Given the description of an element on the screen output the (x, y) to click on. 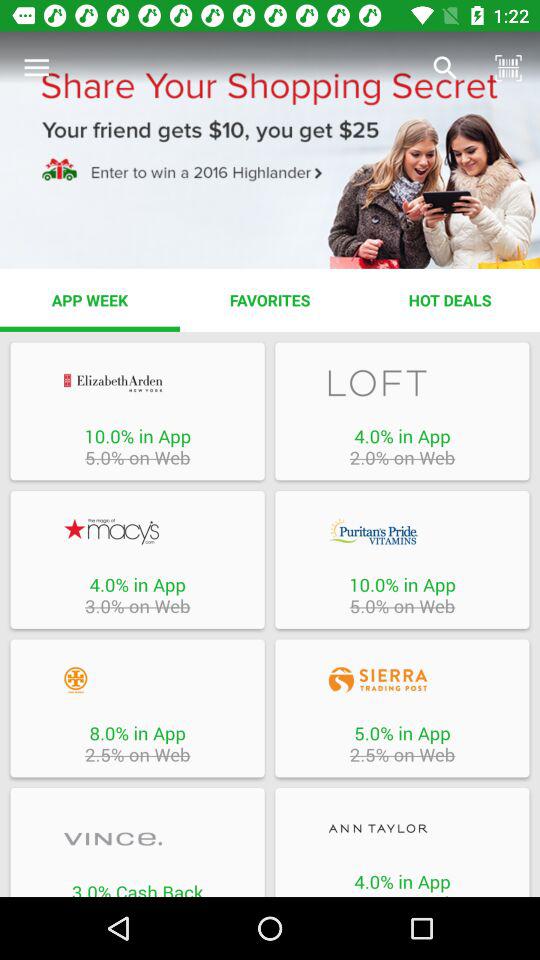
open store page (137, 382)
